Given the description of an element on the screen output the (x, y) to click on. 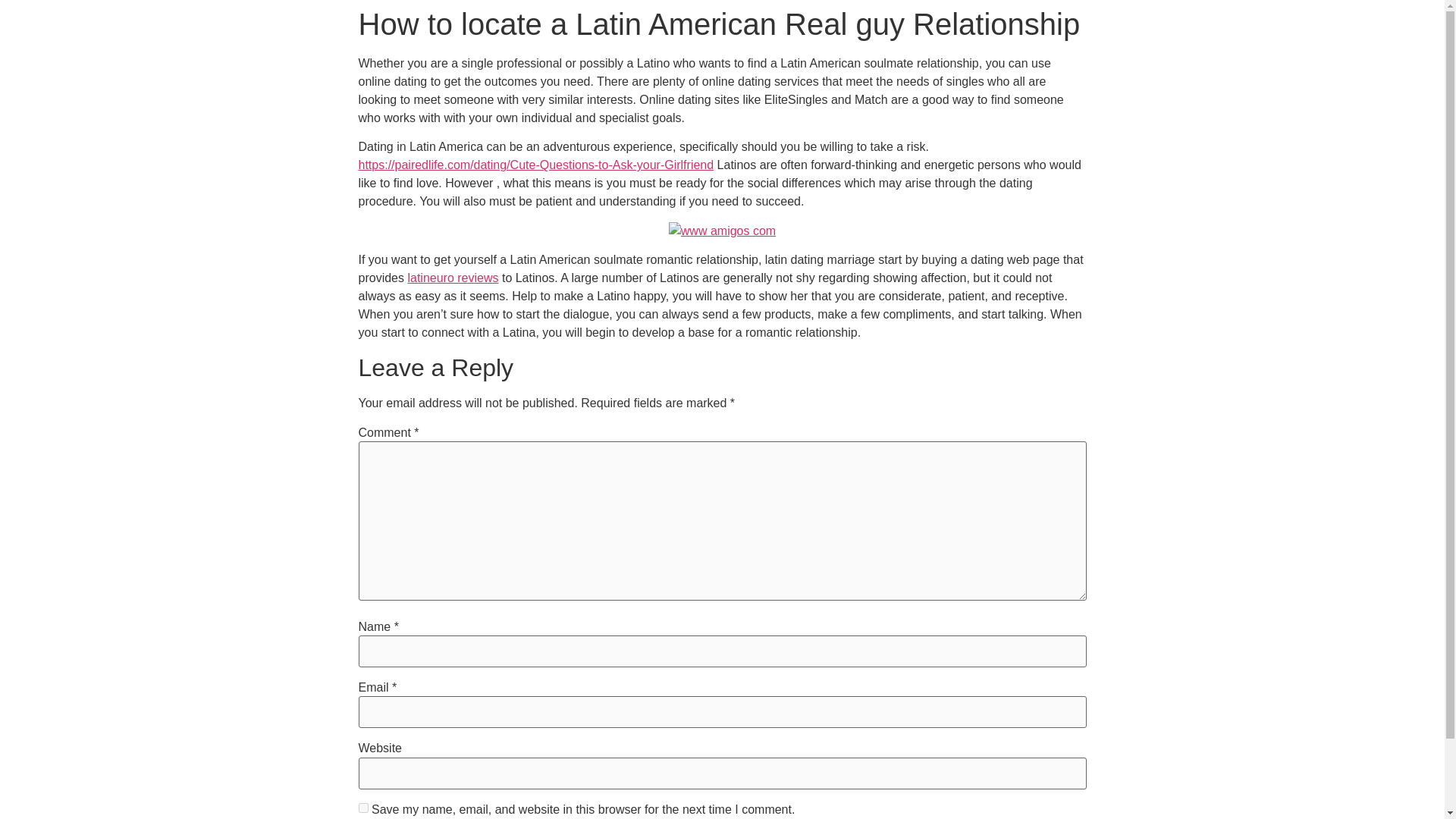
latineuro reviews (452, 277)
yes (363, 808)
